Given the description of an element on the screen output the (x, y) to click on. 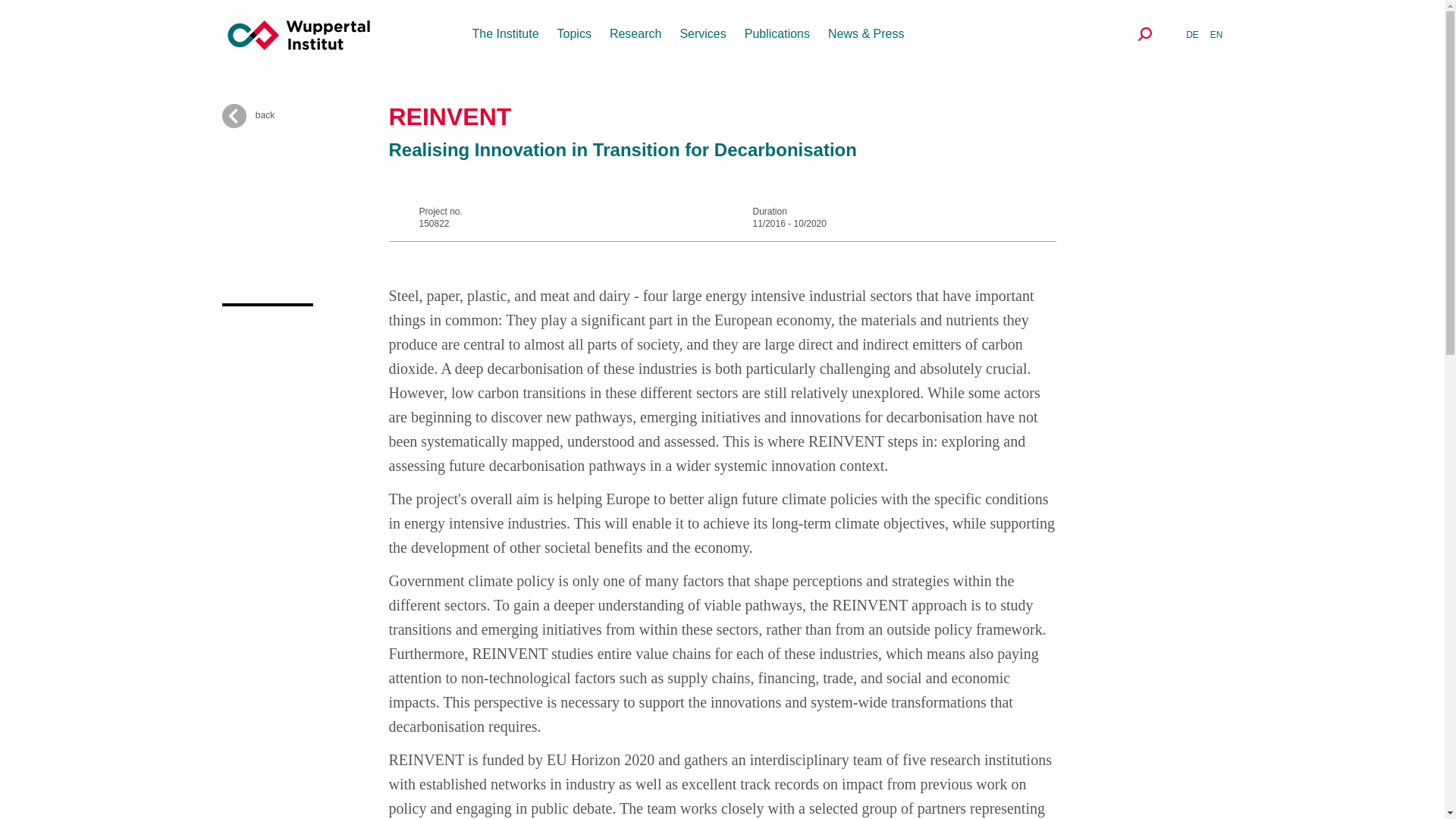
Topics (573, 33)
DE (1192, 34)
EN (1216, 34)
The Institute (505, 33)
Publications (776, 33)
Services (702, 33)
Research (634, 33)
back (304, 115)
